Given the description of an element on the screen output the (x, y) to click on. 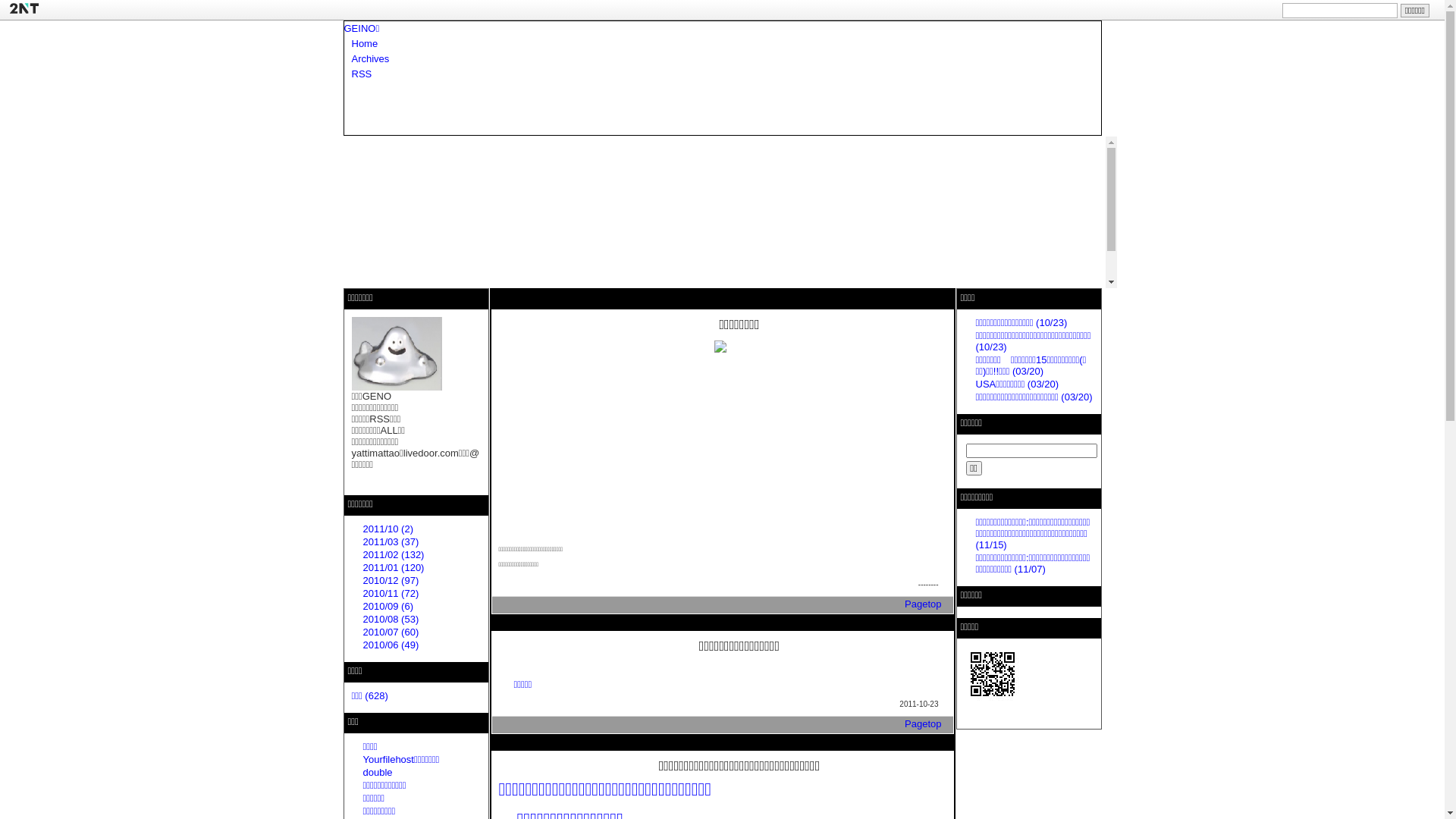
Archives Element type: text (370, 58)
double Element type: text (377, 772)
Pagetop Element type: text (922, 603)
RSS Element type: text (361, 73)
2010/09 (6) Element type: text (387, 605)
2010/11 (72) Element type: text (390, 593)
2011/01 (120) Element type: text (392, 567)
Home Element type: text (364, 43)
Pagetop Element type: text (922, 723)
2011/03 (37) Element type: text (390, 541)
2010/06 (49) Element type: text (390, 644)
2010/12 (97) Element type: text (390, 580)
2010/07 (60) Element type: text (390, 631)
2011/02 (132) Element type: text (392, 554)
2010/08 (53) Element type: text (390, 618)
2011/10 (2) Element type: text (387, 528)
